Given the description of an element on the screen output the (x, y) to click on. 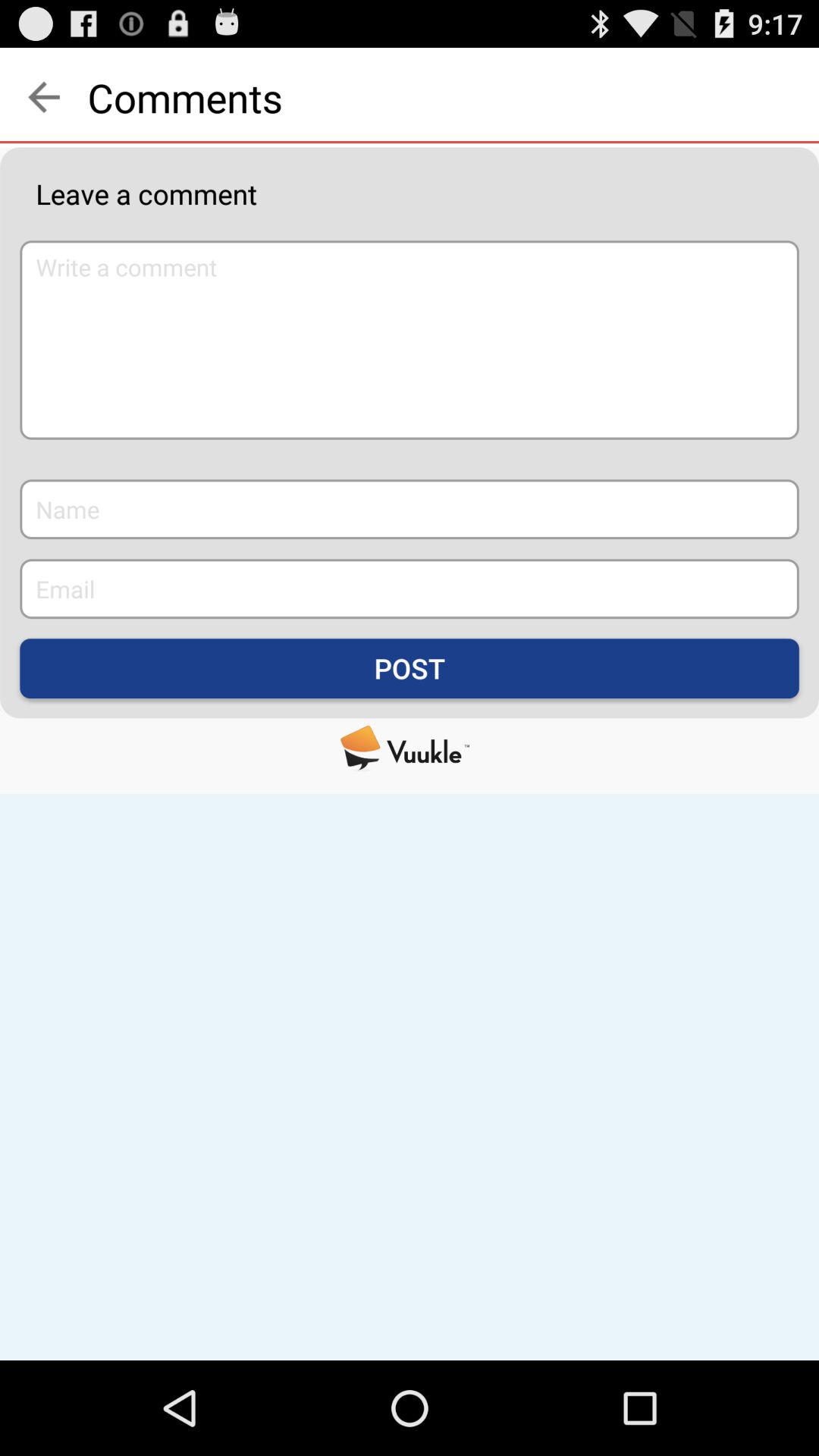
tap icon below leave a comment item (409, 339)
